Given the description of an element on the screen output the (x, y) to click on. 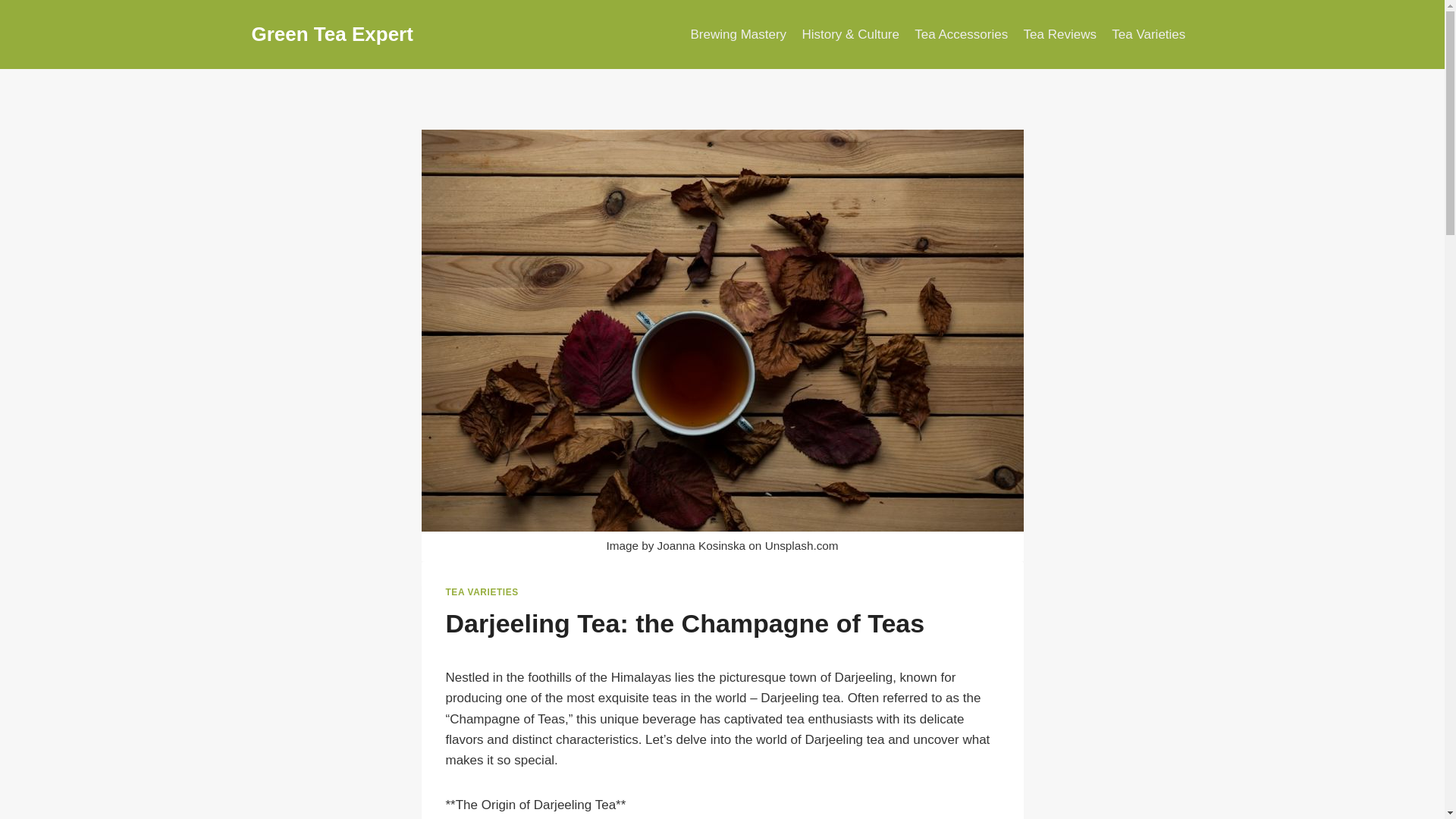
Brewing Mastery (737, 34)
Tea Reviews (1058, 34)
Tea Accessories (960, 34)
Tea Varieties (1147, 34)
TEA VARIETIES (481, 592)
Green Tea Expert (332, 33)
